Given the description of an element on the screen output the (x, y) to click on. 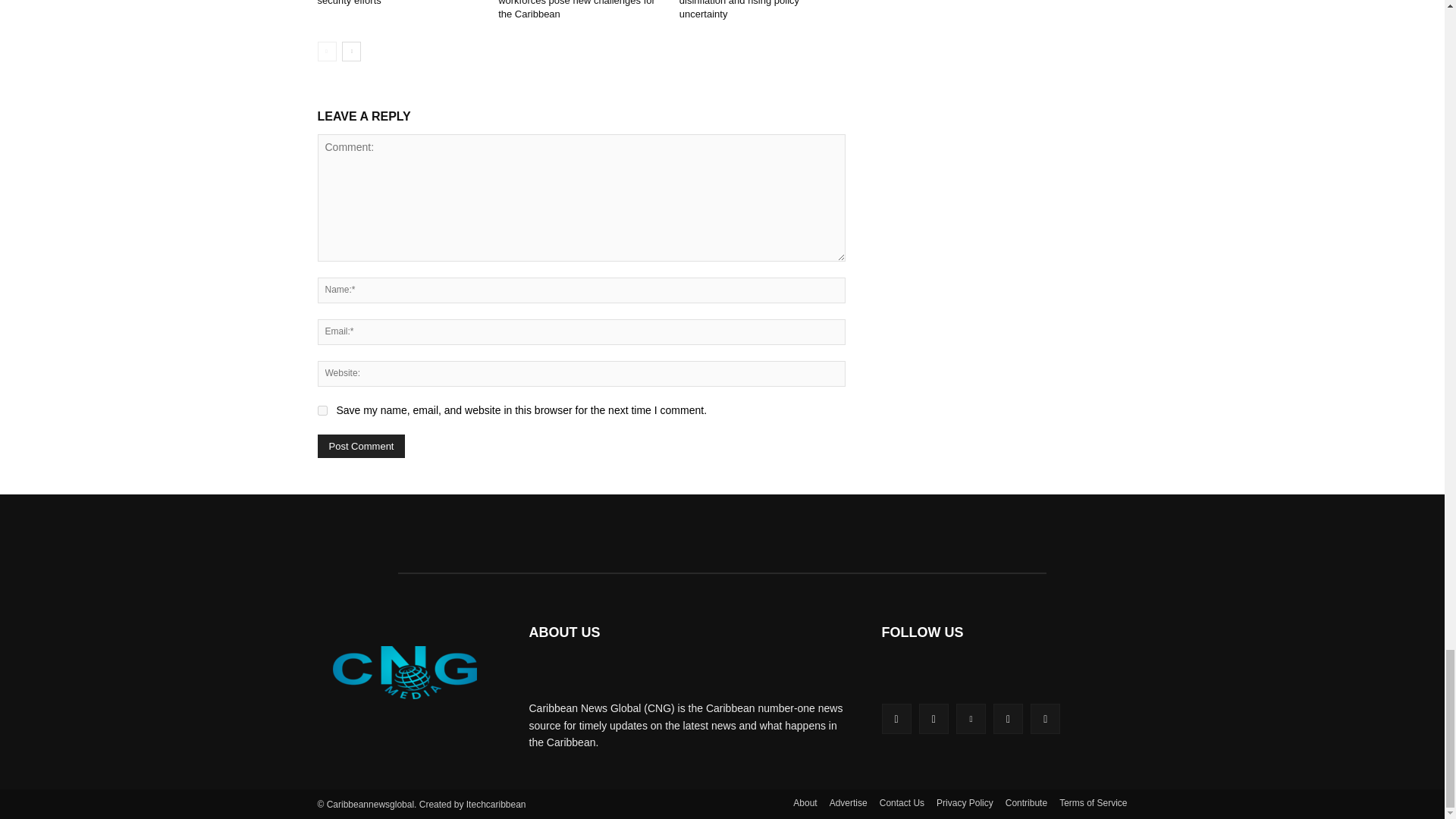
yes (321, 410)
Post Comment (360, 445)
